Given the description of an element on the screen output the (x, y) to click on. 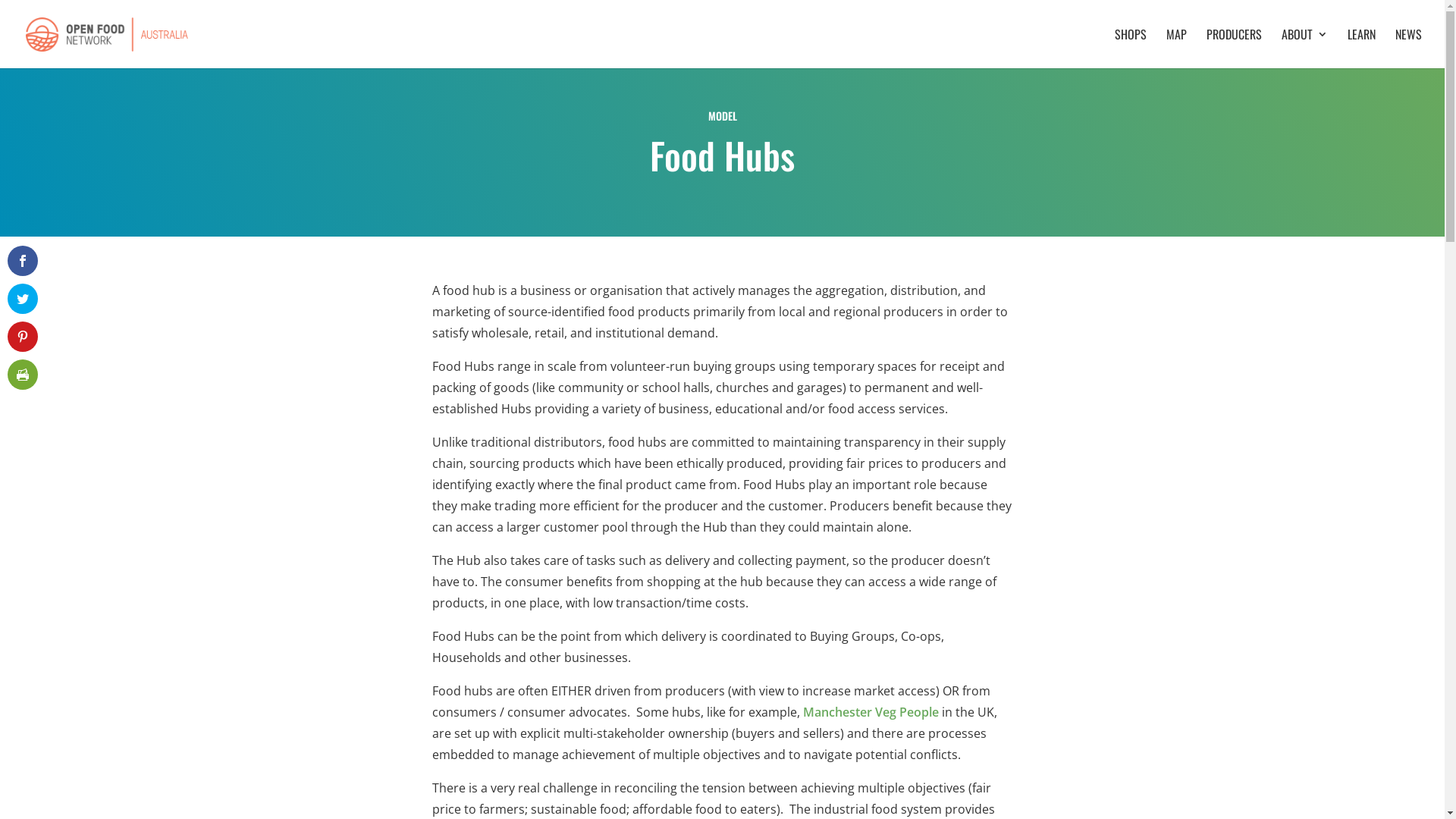
Manchester Veg People Element type: text (870, 711)
SHOPS Element type: text (1130, 48)
MAP Element type: text (1176, 48)
PRODUCERS Element type: text (1233, 48)
NEWS Element type: text (1408, 48)
ABOUT Element type: text (1304, 48)
LEARN Element type: text (1361, 48)
